Given the description of an element on the screen output the (x, y) to click on. 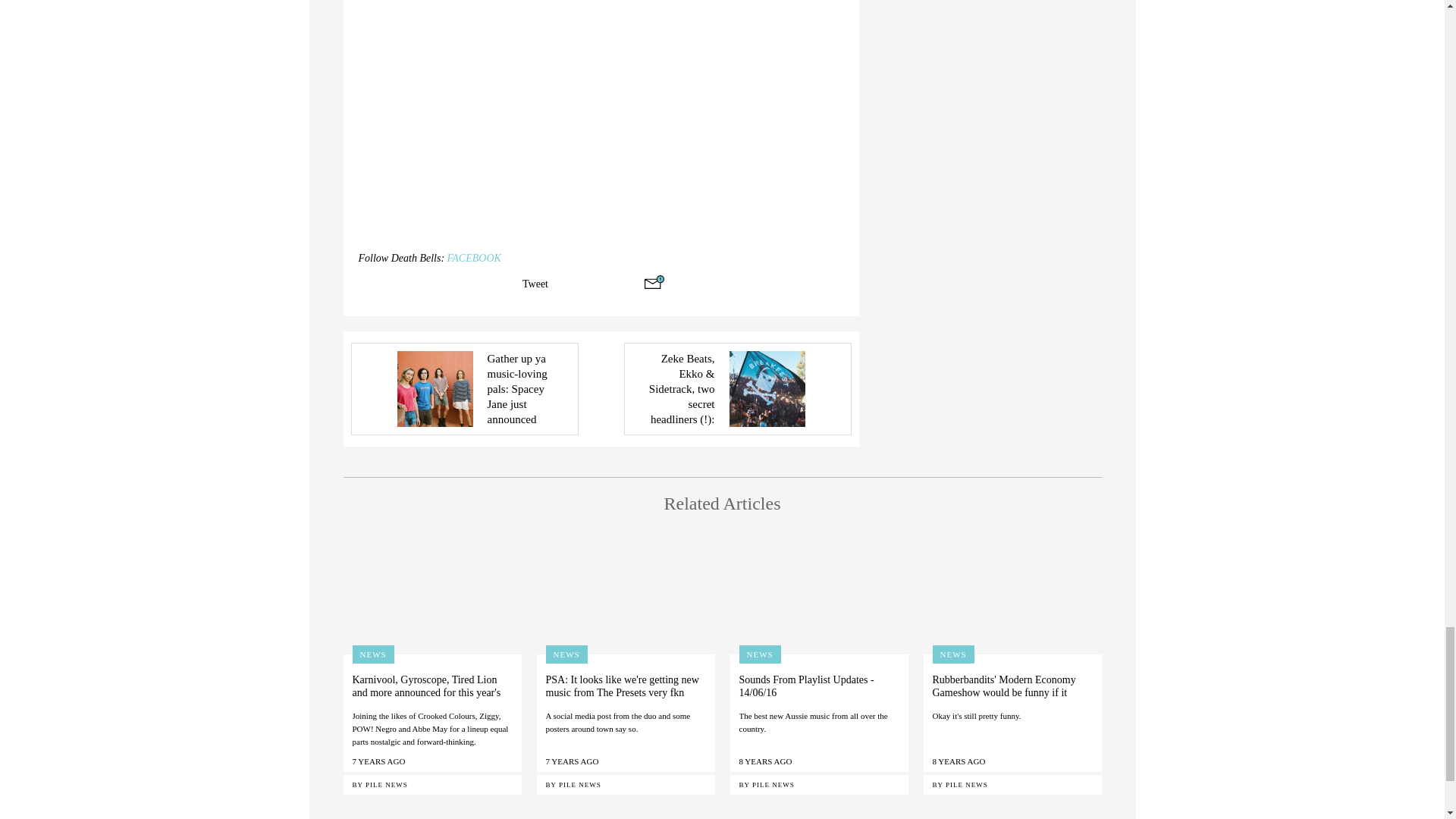
Share via email (654, 282)
